Given the description of an element on the screen output the (x, y) to click on. 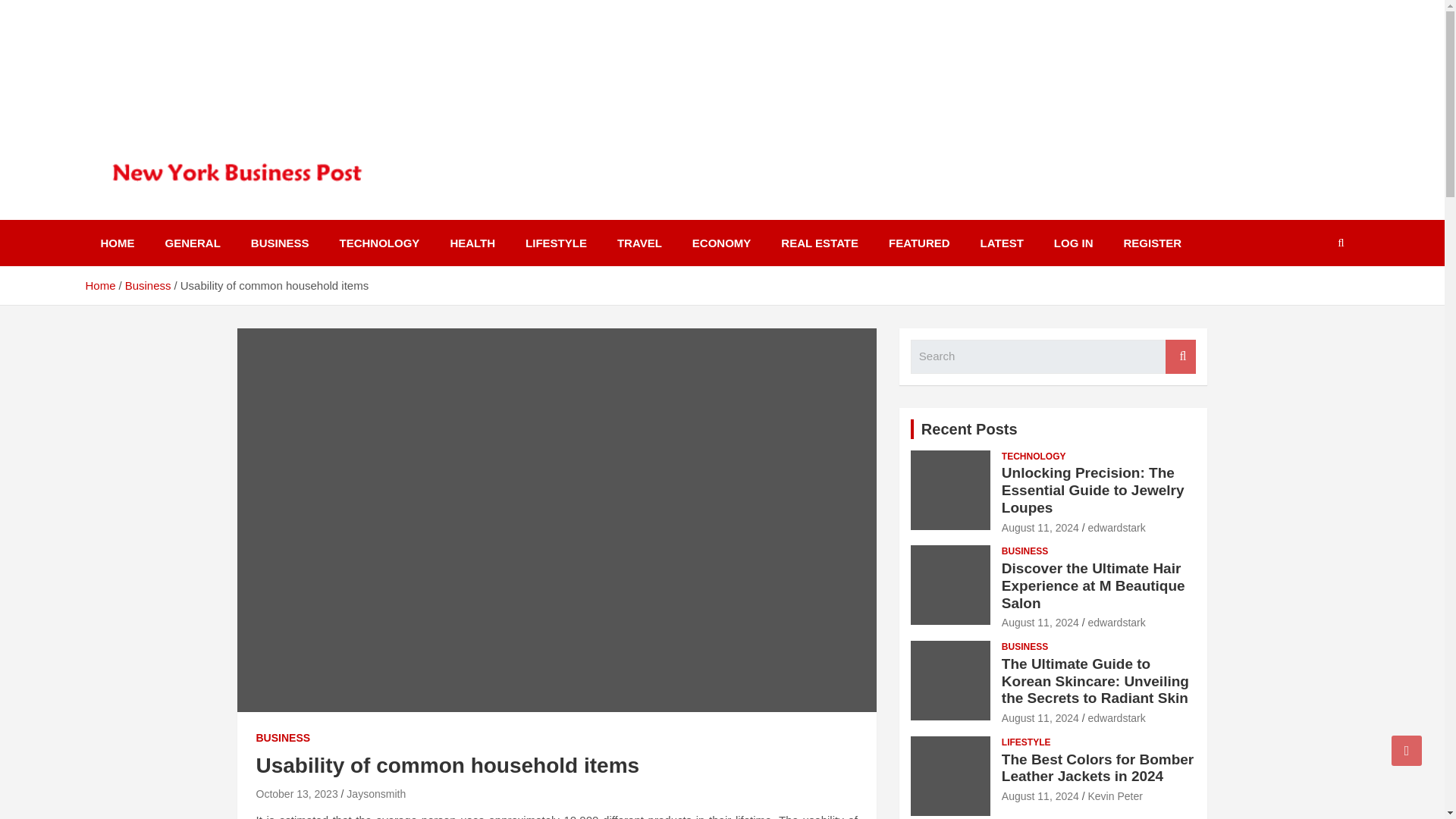
Discover the Ultimate Hair Experience at M Beautique Salon (1093, 585)
BUSINESS (1024, 551)
HOME (116, 243)
Jaysonsmith (376, 793)
TECHNOLOGY (1033, 456)
REAL ESTATE (819, 243)
REGISTER (1152, 243)
FEATURED (919, 243)
ECONOMY (722, 243)
